Given the description of an element on the screen output the (x, y) to click on. 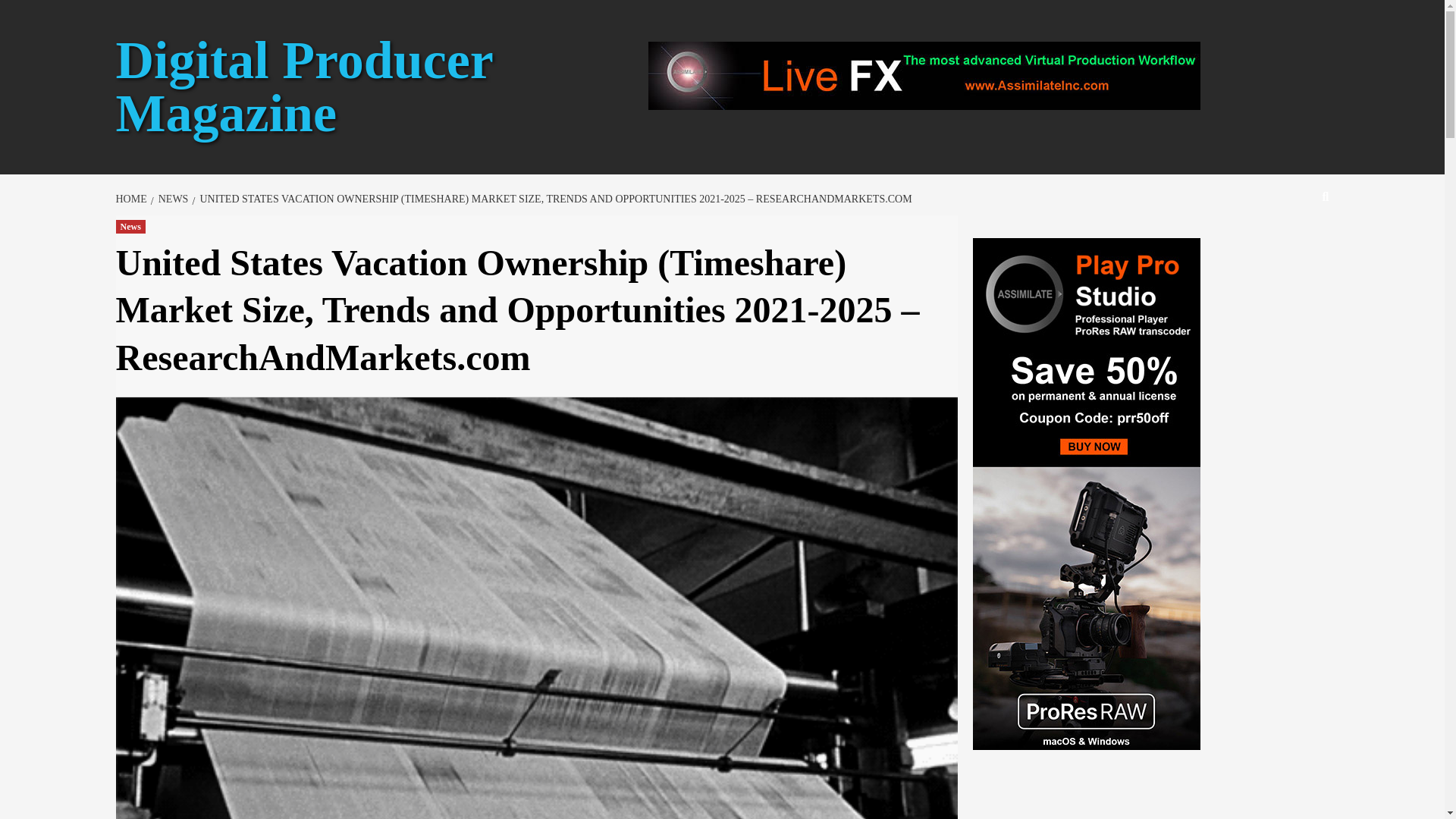
Digital Producer Magazine (303, 86)
NEWS (171, 198)
News (129, 226)
HOME (132, 198)
